Given the description of an element on the screen output the (x, y) to click on. 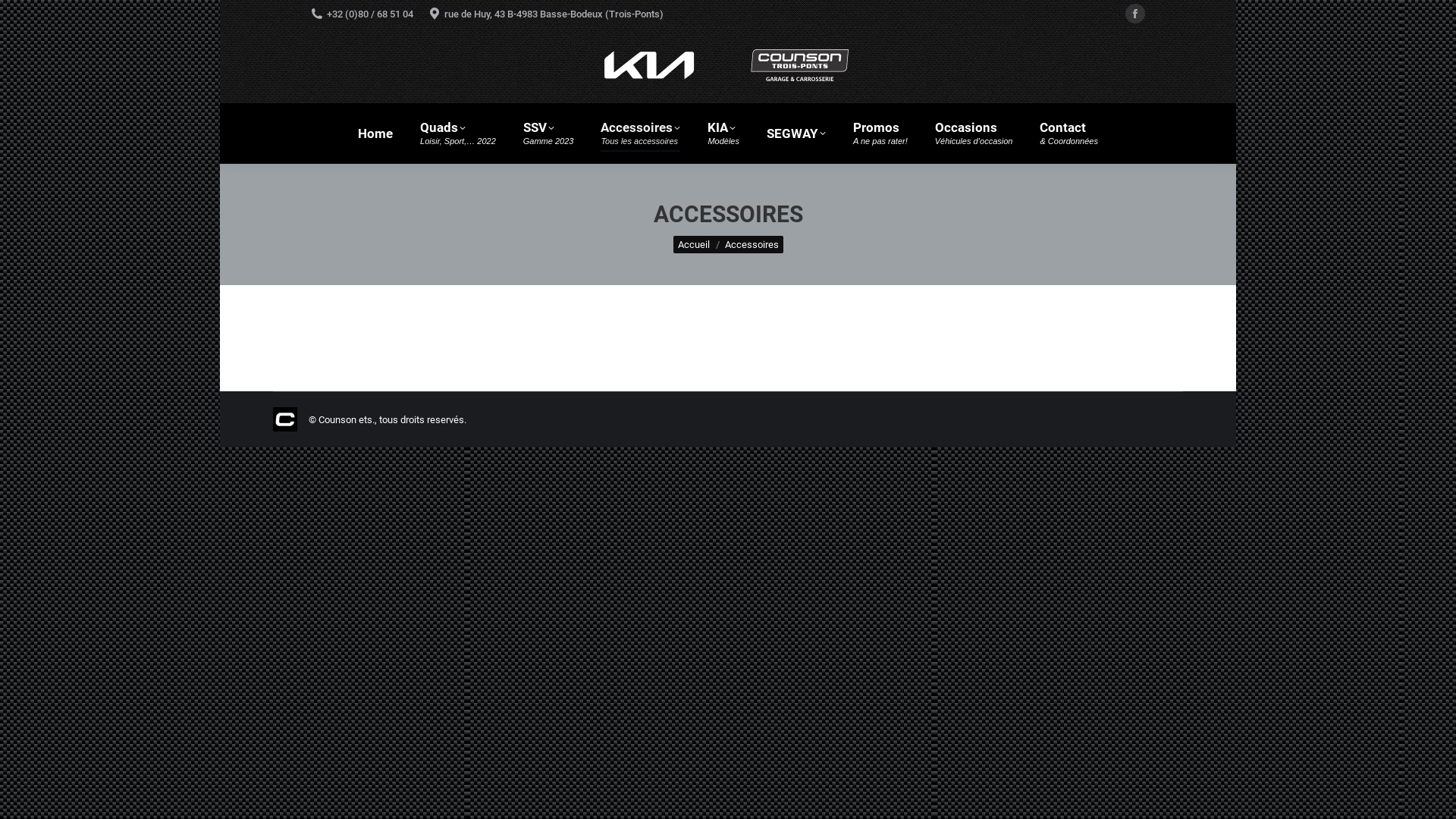
SEGWAY Element type: text (795, 133)
Promos
A ne pas rater! Element type: text (880, 133)
Accessoires
Tous les accessoires Element type: text (640, 133)
SSV
Gamme 2023 Element type: text (548, 133)
Home Element type: text (374, 133)
Accueil Element type: text (693, 244)
